Given the description of an element on the screen output the (x, y) to click on. 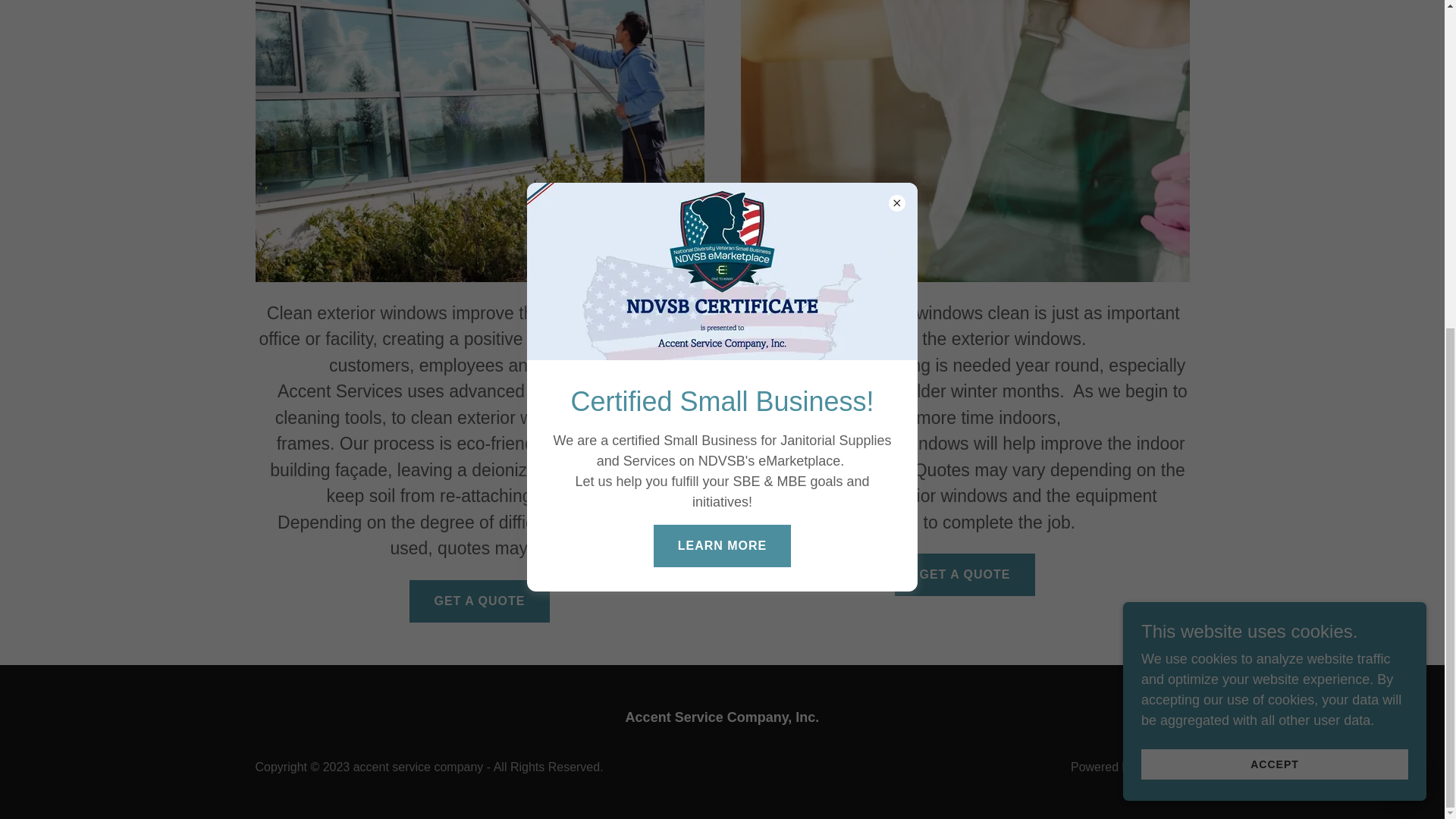
GET A QUOTE (964, 574)
GoDaddy (1163, 766)
GET A QUOTE (478, 600)
